Given the description of an element on the screen output the (x, y) to click on. 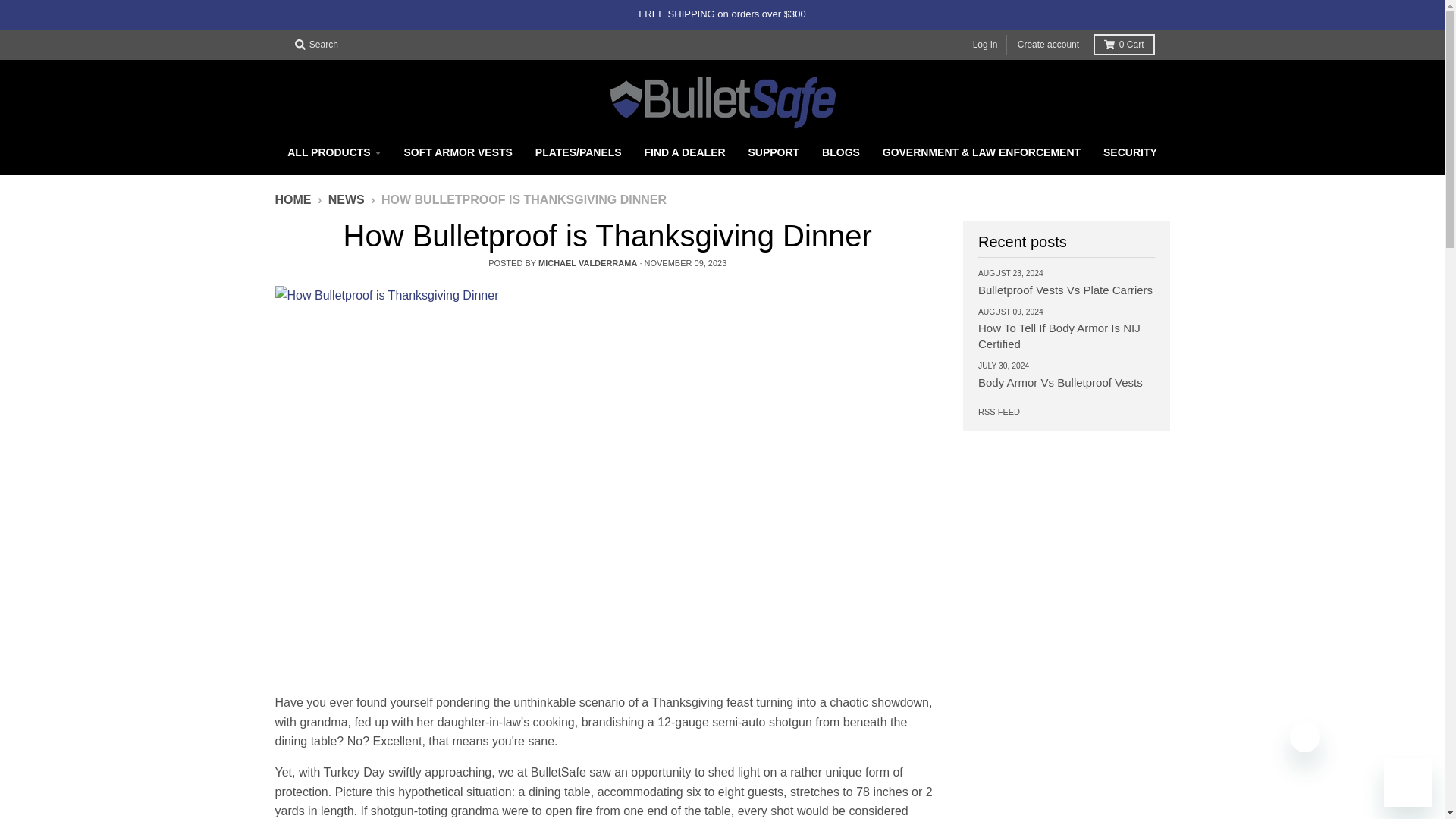
NEWS (347, 199)
SOFT ARMOR VESTS (458, 152)
Search (315, 44)
FIND A DEALER (684, 152)
HOME (293, 199)
SECURITY (1130, 152)
Back to the frontpage (293, 199)
0 Cart (1123, 44)
SUPPORT (773, 152)
ALL PRODUCTS (334, 152)
